Given the description of an element on the screen output the (x, y) to click on. 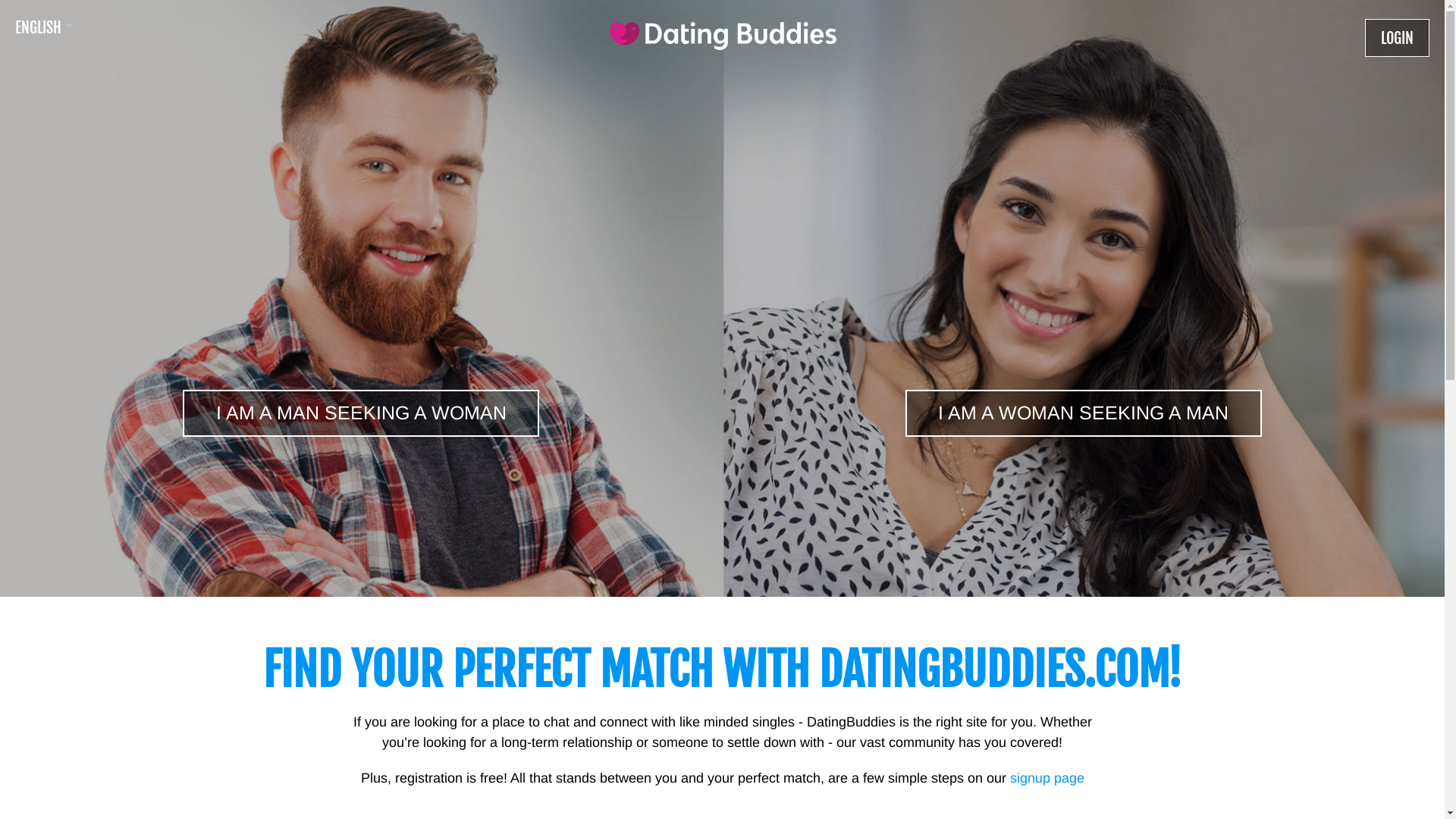
signup page Element type: text (1047, 777)
LOGIN Element type: text (1397, 37)
